Given the description of an element on the screen output the (x, y) to click on. 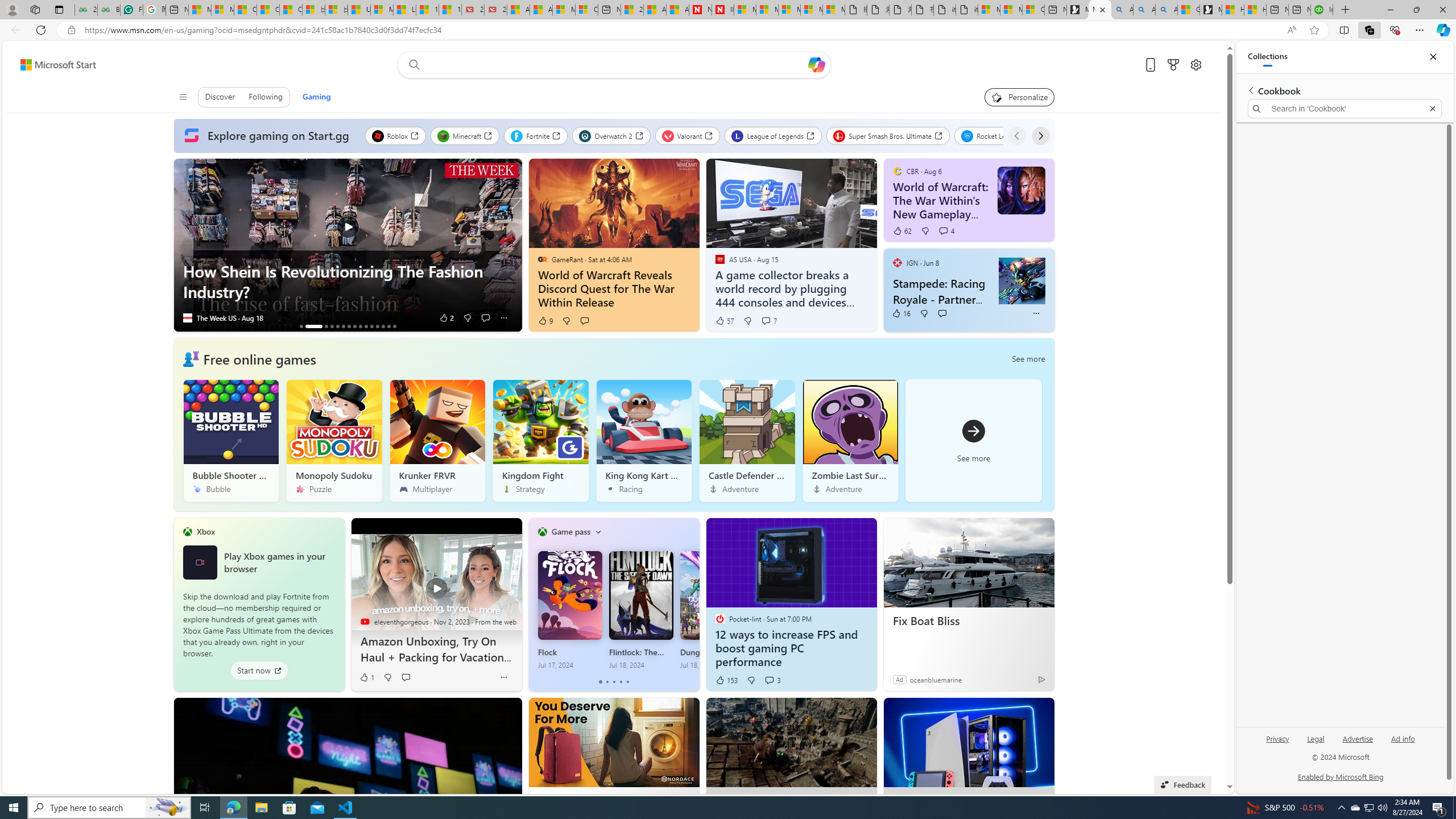
Get $450 Savings on Dell G16 Gaming Laptop (394, 326)
Xbox Logo (199, 562)
itconcepthk.com/projector_solutions.mp4 (966, 9)
20 Ways to Boost Your Protein Intake at Every Meal (631, 9)
Search in 'Cookbook' (1345, 108)
View comments 7 Comment (765, 320)
2 Like (445, 318)
Ad info (1402, 738)
Class: next-flipper (693, 604)
